Given the description of an element on the screen output the (x, y) to click on. 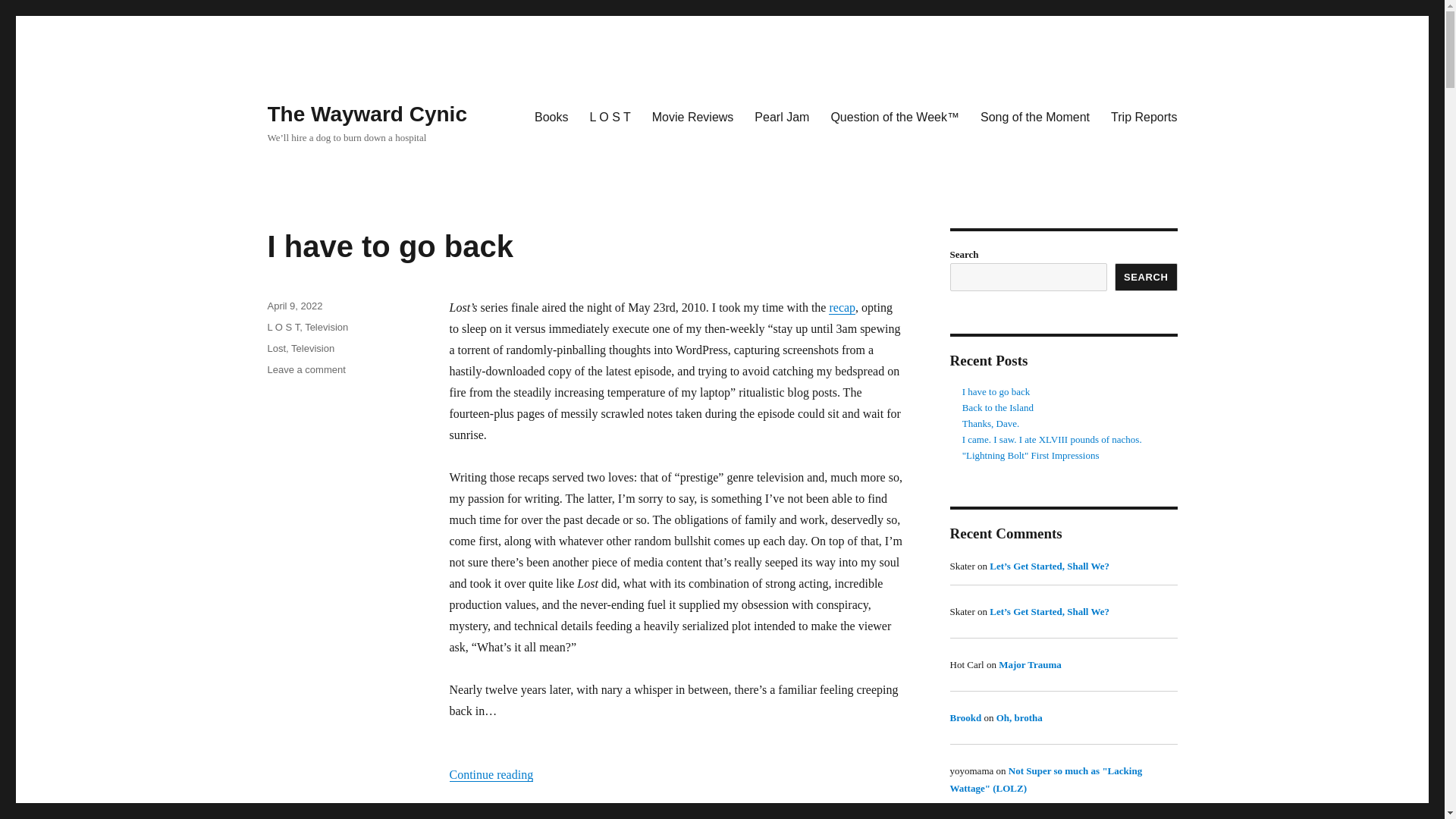
Song of the Moment (1034, 116)
L O S T (305, 369)
I have to go back (282, 326)
Pearl Jam (389, 246)
Trip Reports (781, 116)
Television (1144, 116)
recap (312, 348)
Lost (842, 307)
The Wayward Cynic (275, 348)
Television (365, 114)
Books (325, 326)
L O S T (551, 116)
Movie Reviews (610, 116)
April 9, 2022 (693, 116)
